Given the description of an element on the screen output the (x, y) to click on. 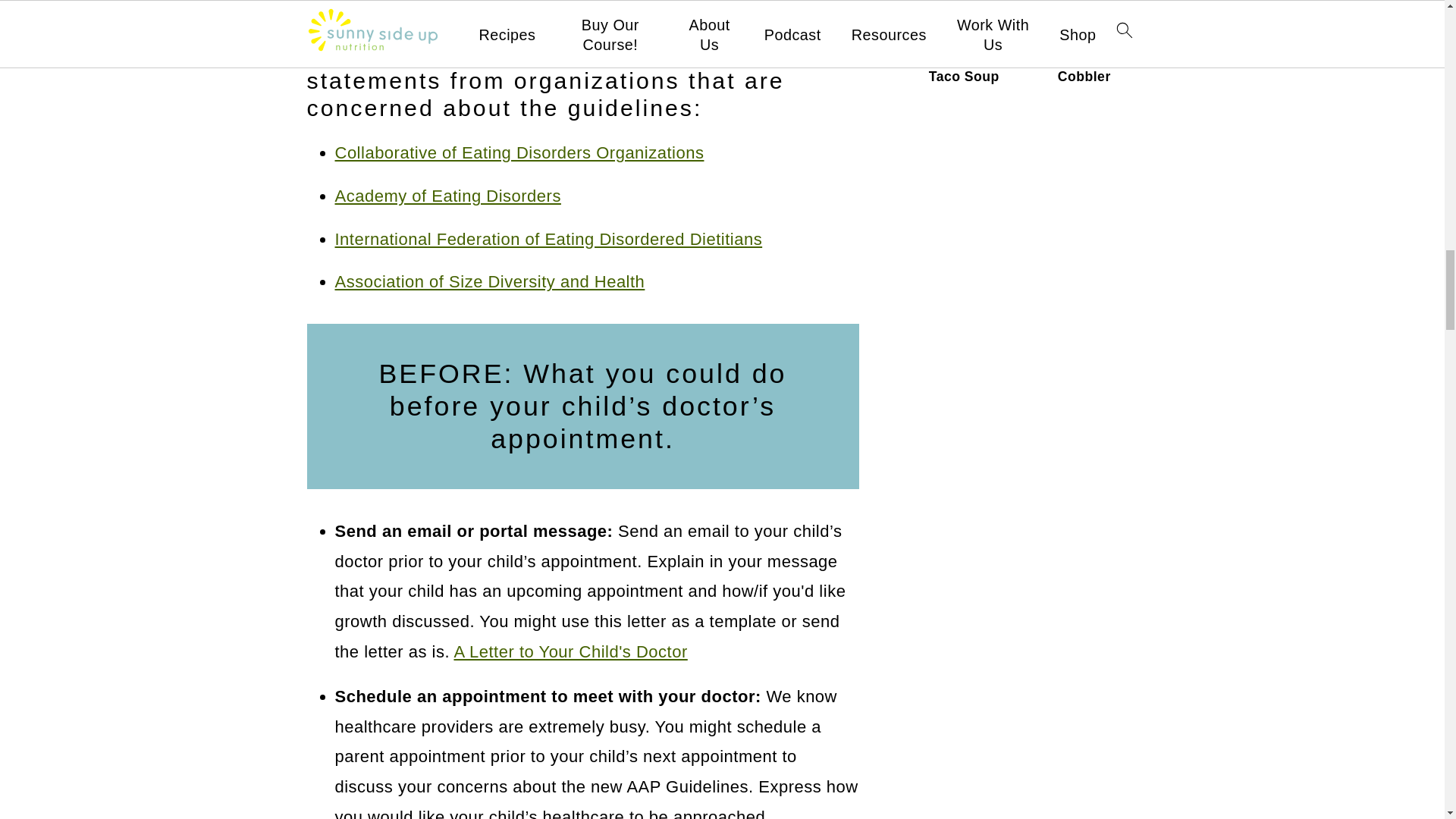
Collaborative of Eating Disorders Organizations (519, 152)
